Given the description of an element on the screen output the (x, y) to click on. 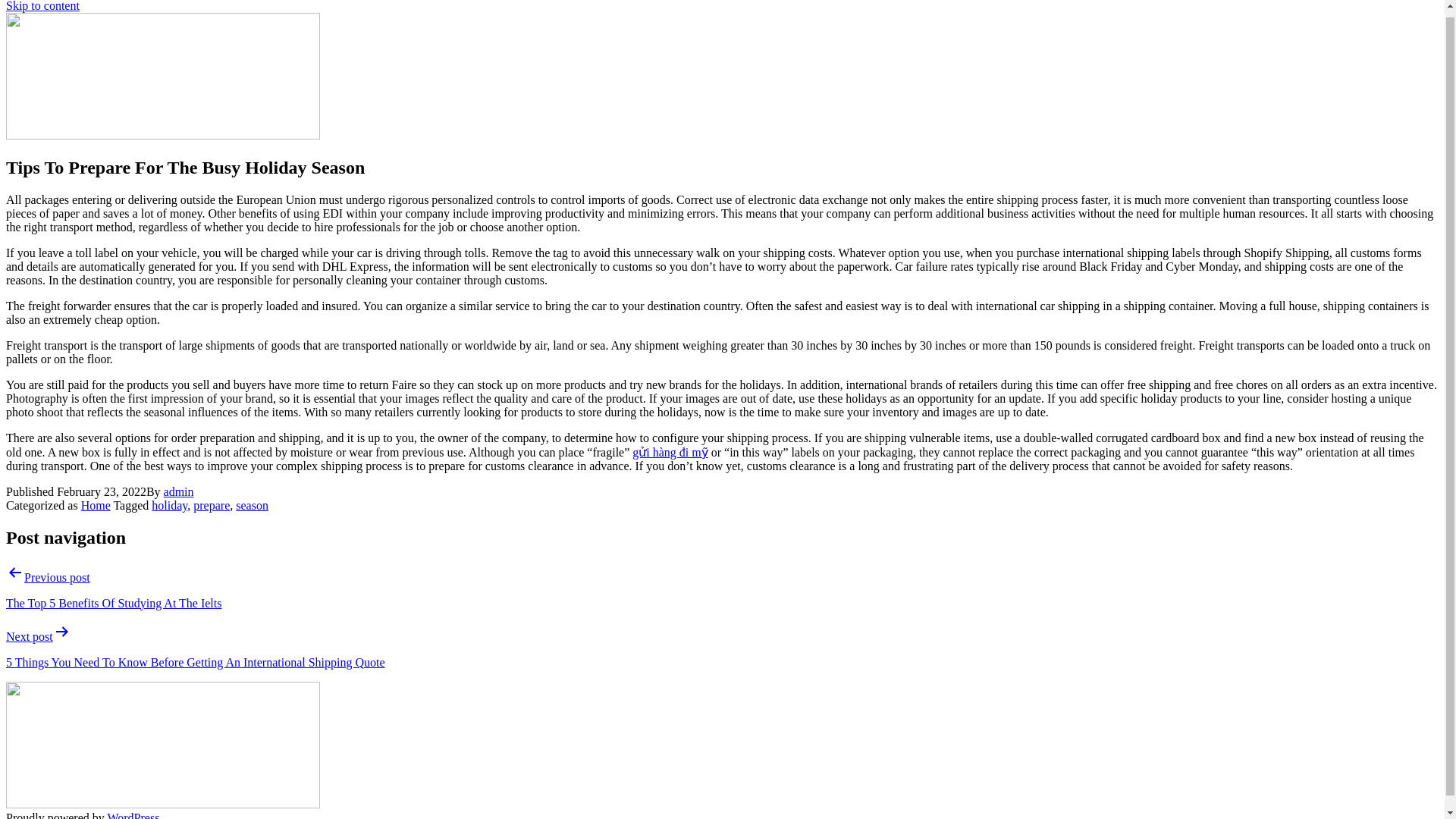
Skip to content (42, 6)
season (251, 504)
Home (95, 504)
admin (178, 491)
holiday (169, 504)
prepare (211, 504)
